Given the description of an element on the screen output the (x, y) to click on. 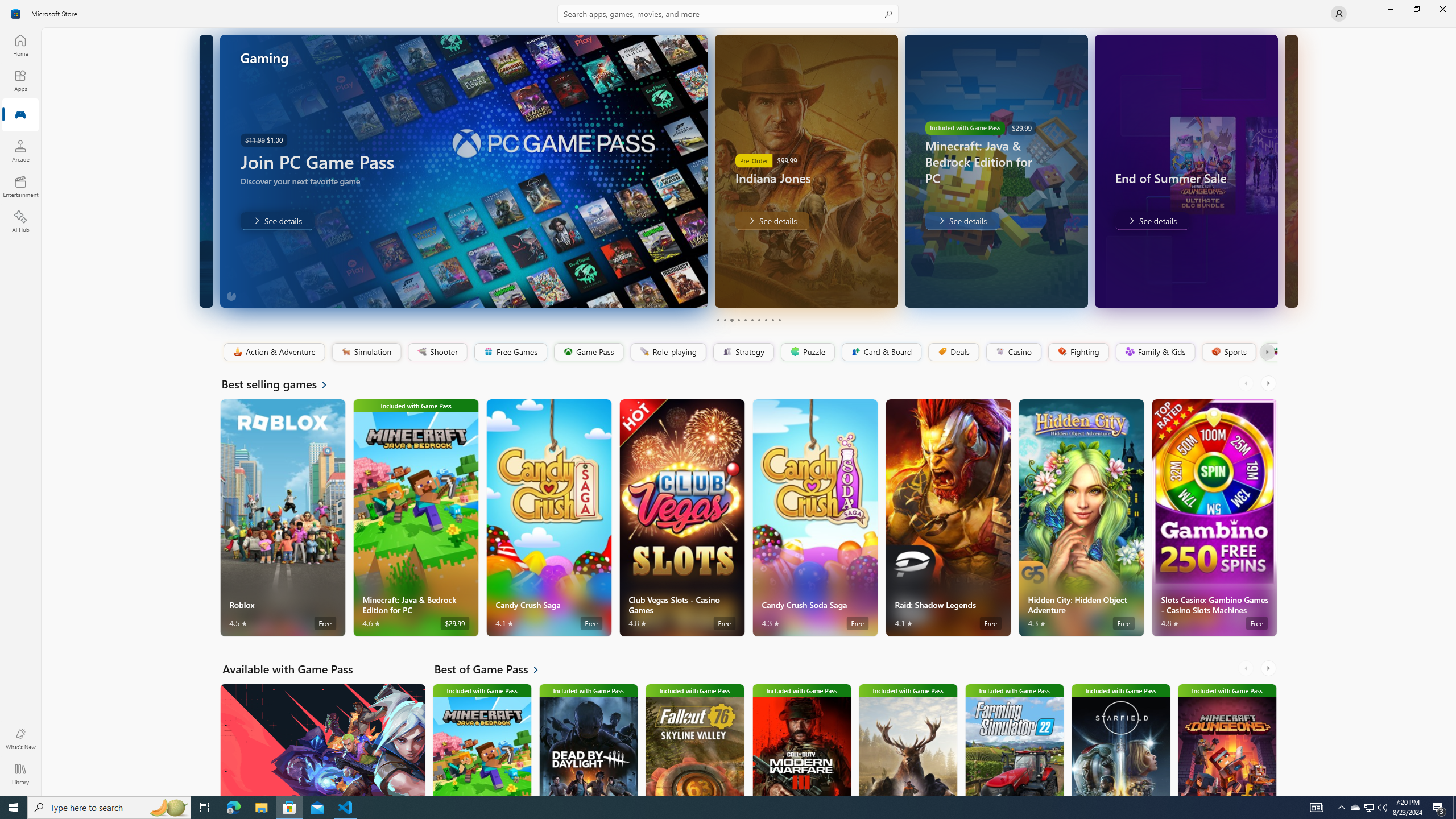
Apps (20, 80)
Page 4 (738, 319)
Class: Button (1266, 351)
Simulation (365, 352)
Entertainment (20, 185)
